Given the description of an element on the screen output the (x, y) to click on. 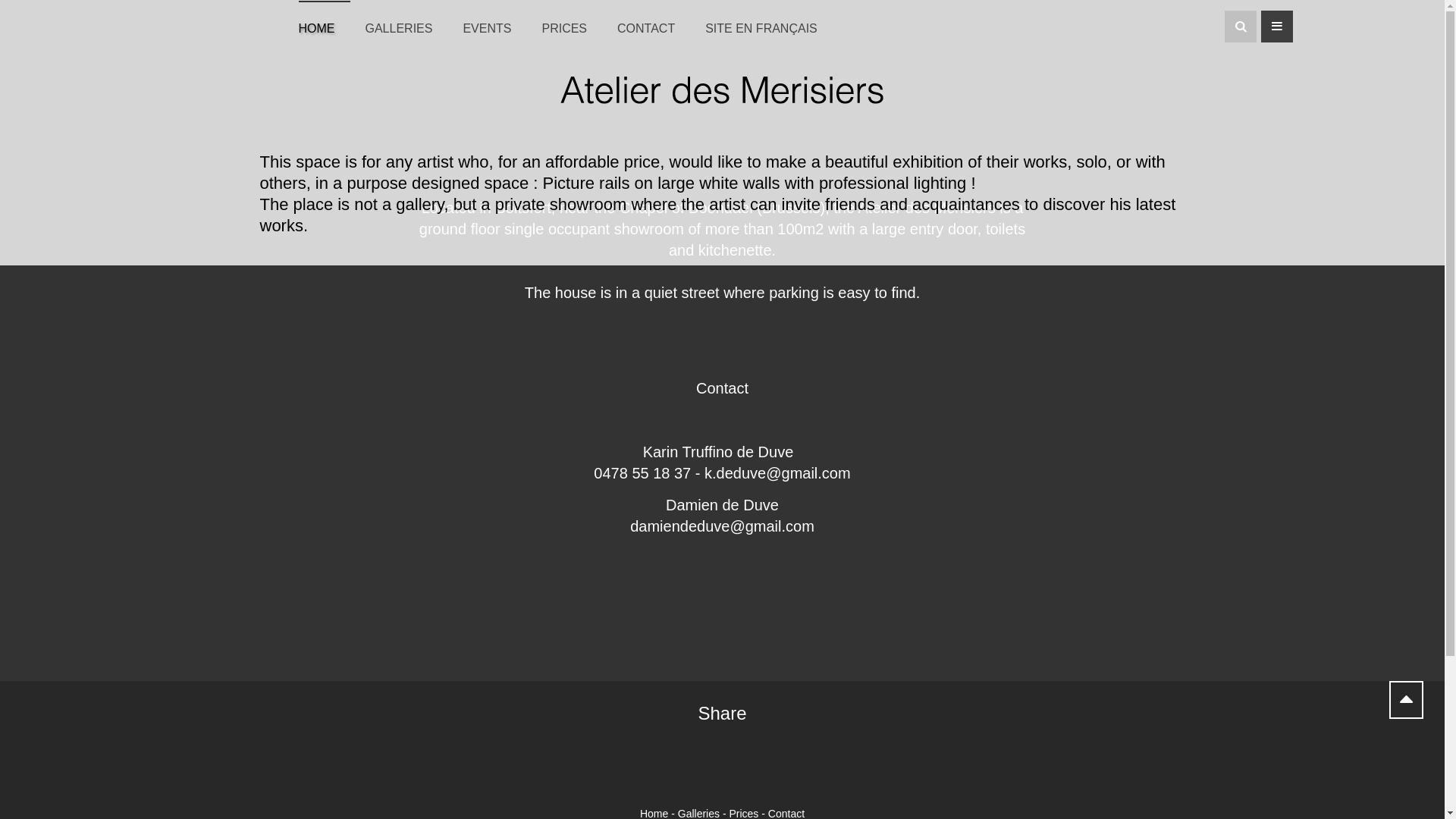
k.deduve@gmail.com Element type: text (777, 472)
L'atelier des Merisiers - Espace exposition artistes Element type: hover (722, 90)
PRICES Element type: text (571, 22)
CONTACT Element type: text (653, 22)
HOME Element type: text (324, 22)
damiendeduve@gmail.com Element type: text (722, 525)
EVENTS Element type: text (494, 22)
GALLERIES Element type: text (406, 22)
Back to Top Element type: hover (1406, 699)
